Given the description of an element on the screen output the (x, y) to click on. 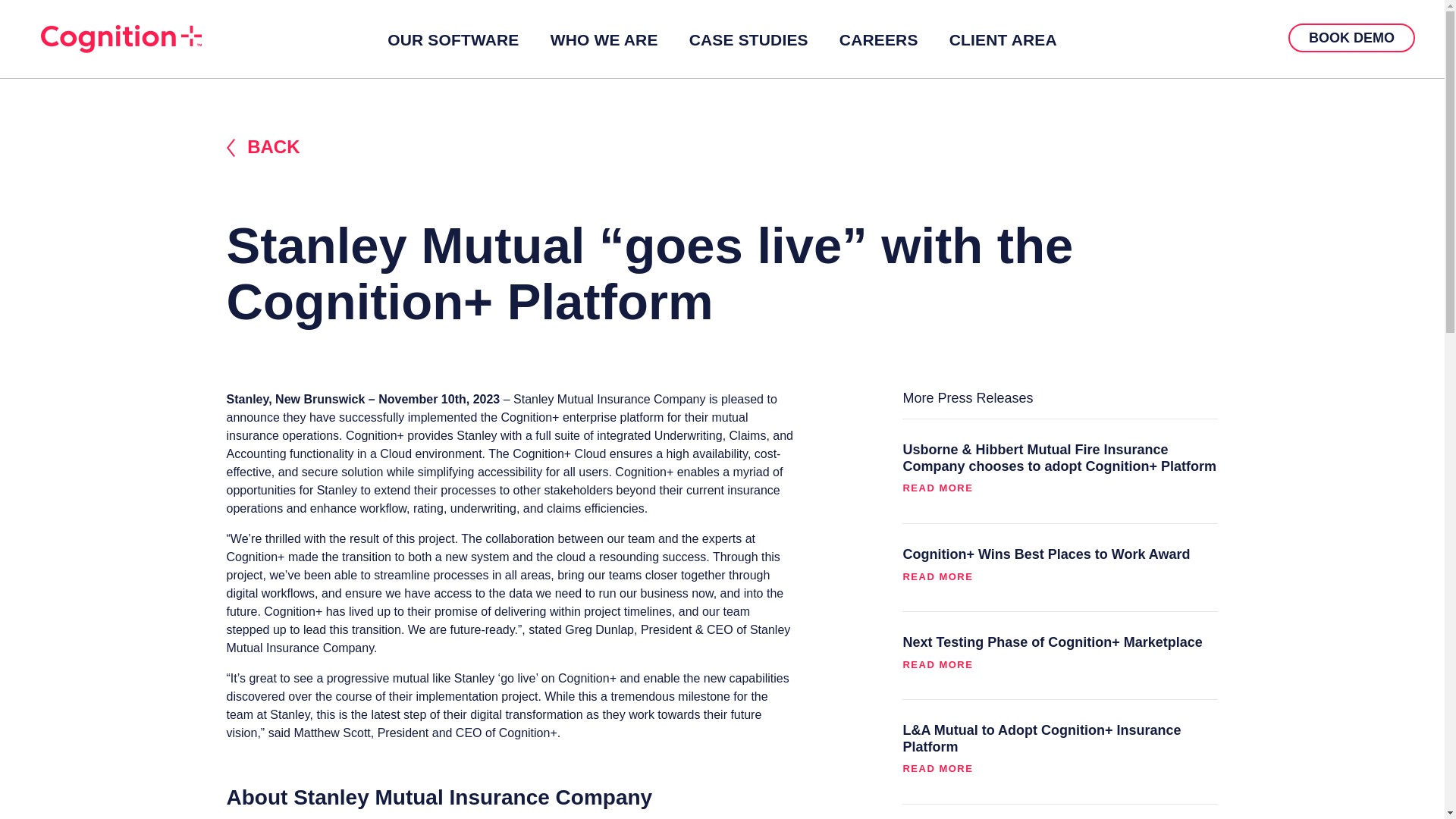
Client Area (1002, 40)
 BACK (721, 148)
CAREERS (878, 40)
Careers (878, 40)
WHO WE ARE (603, 40)
READ MORE (1059, 495)
CLIENT AREA (1002, 40)
READ MORE (1059, 672)
CASE STUDIES (747, 40)
Our Software (452, 40)
OUR SOFTWARE (452, 40)
BOOK DEMO (1351, 37)
Who We Are (603, 40)
Case Studies (747, 40)
READ MORE (1059, 584)
